Given the description of an element on the screen output the (x, y) to click on. 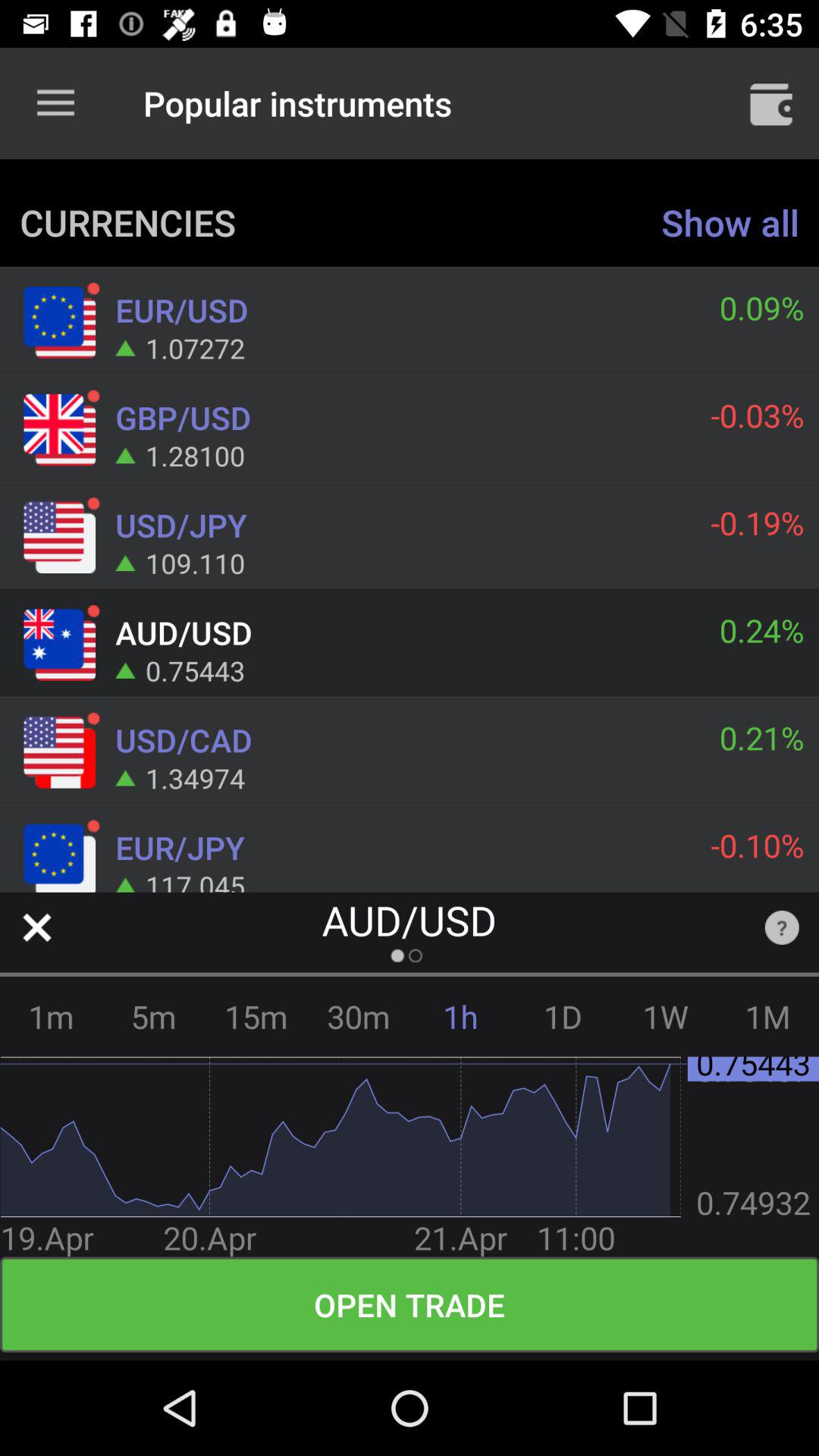
click the item below the -0.10% item (781, 927)
